Given the description of an element on the screen output the (x, y) to click on. 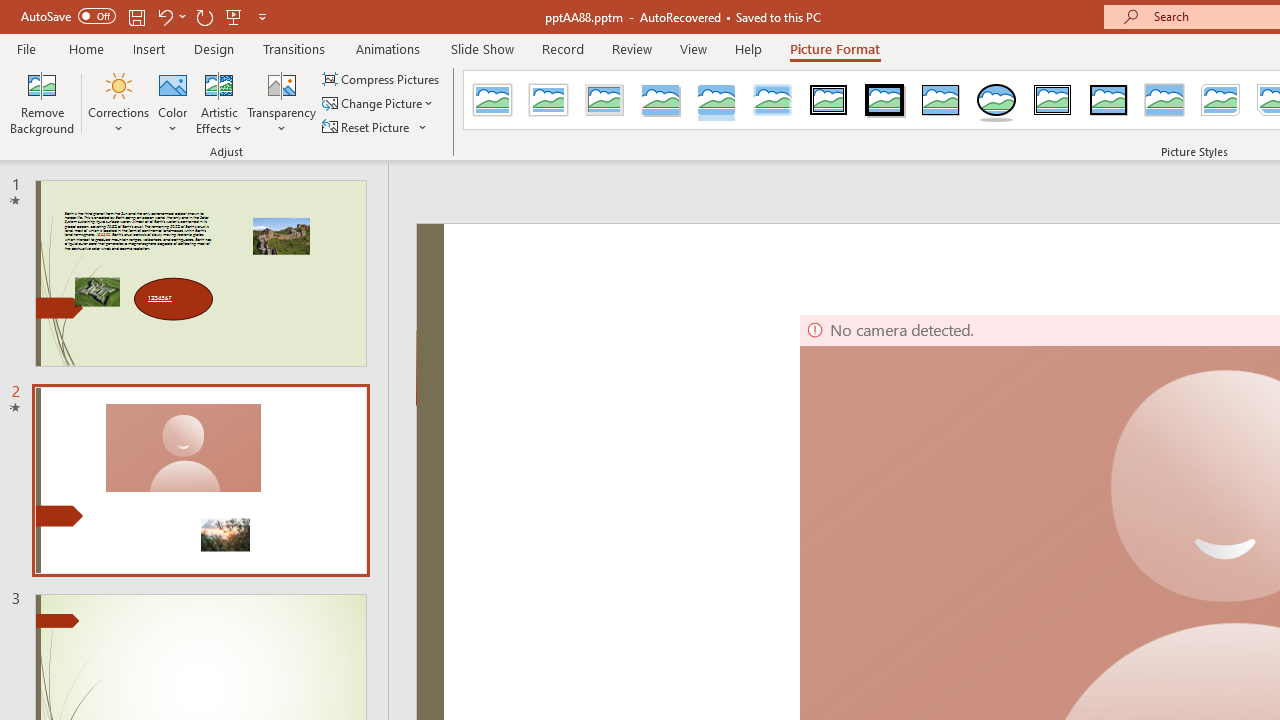
Metal Frame (605, 100)
Drop Shadow Rectangle (660, 100)
Moderate Frame, Black (1108, 100)
Center Shadow Rectangle (1164, 100)
Remove Background (41, 102)
Transparency (281, 102)
Soft Edge Rectangle (772, 100)
Rounded Diagonal Corner, White (1220, 100)
Simple Frame, Black (940, 100)
Compress Pictures... (381, 78)
Artistic Effects (219, 102)
